Given the description of an element on the screen output the (x, y) to click on. 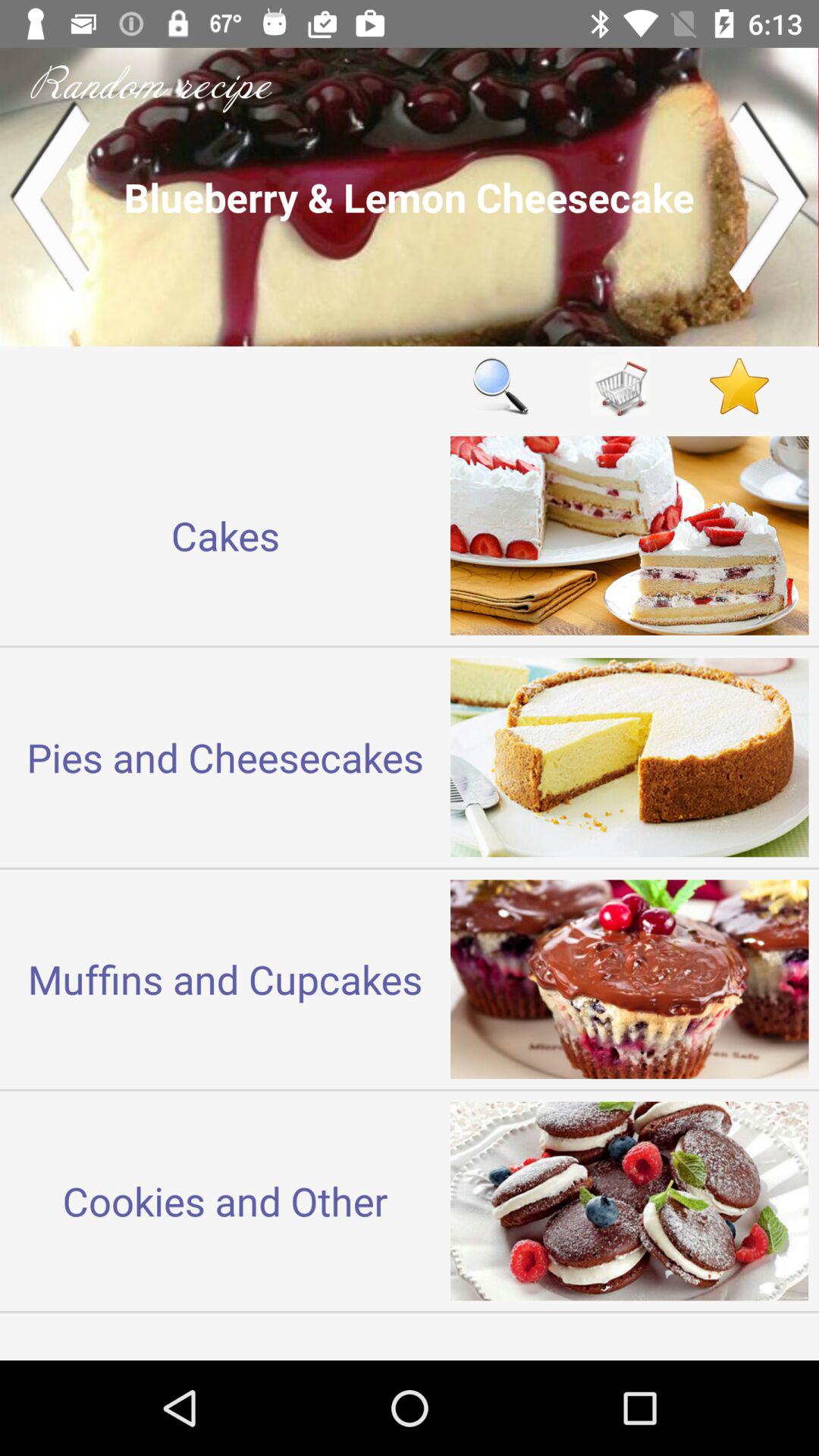
jump to the cookies and other icon (225, 1200)
